Given the description of an element on the screen output the (x, y) to click on. 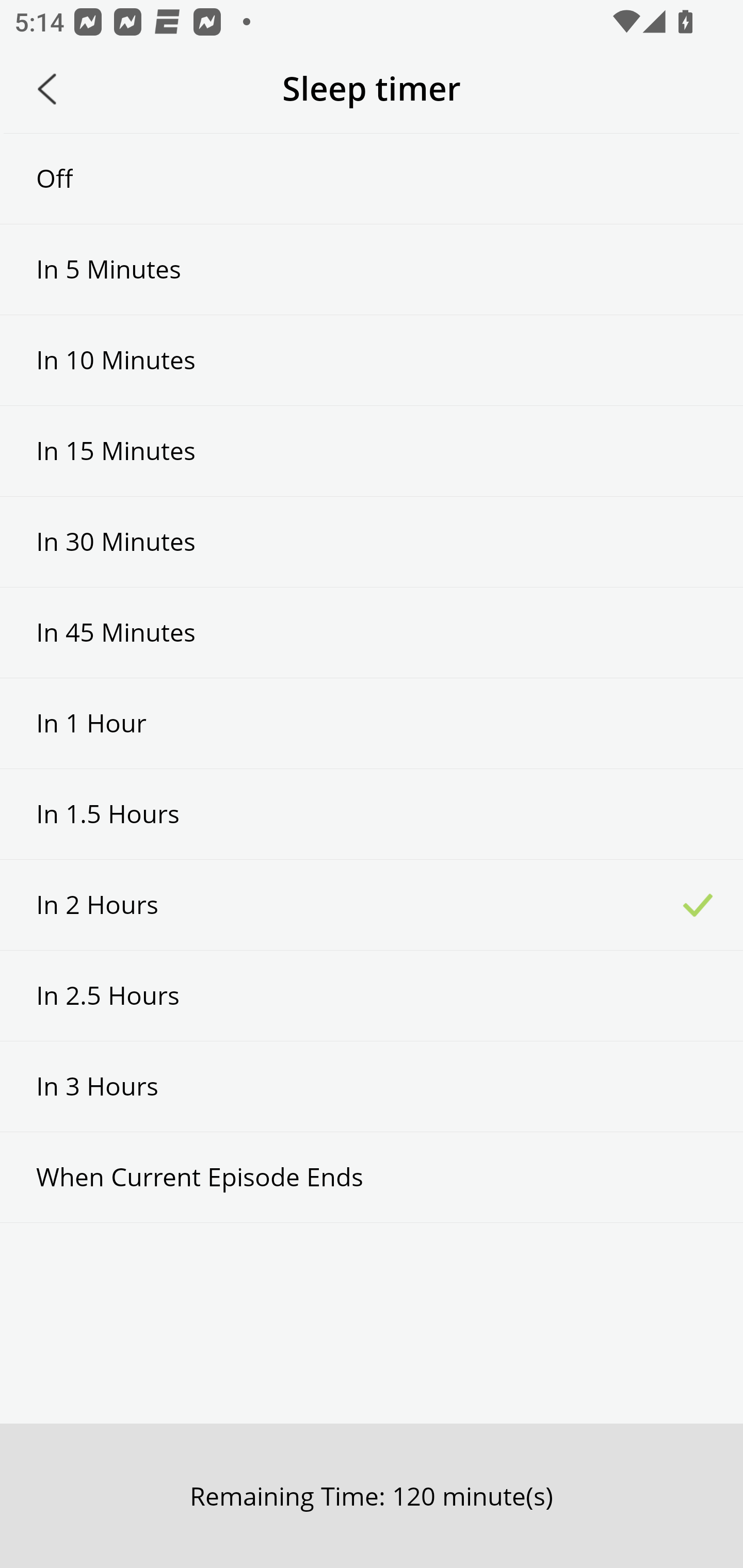
Back (46, 88)
Off (371, 178)
In 5 Minutes (371, 269)
In 10 Minutes (371, 360)
In 15 Minutes (371, 450)
In 30 Minutes (371, 541)
In 45 Minutes (371, 632)
In 1 Hour (371, 723)
In 1.5 Hours (371, 813)
In 2 Hours (371, 904)
In 2.5 Hours (371, 995)
In 3 Hours (371, 1086)
When Current Episode Ends (371, 1177)
